Given the description of an element on the screen output the (x, y) to click on. 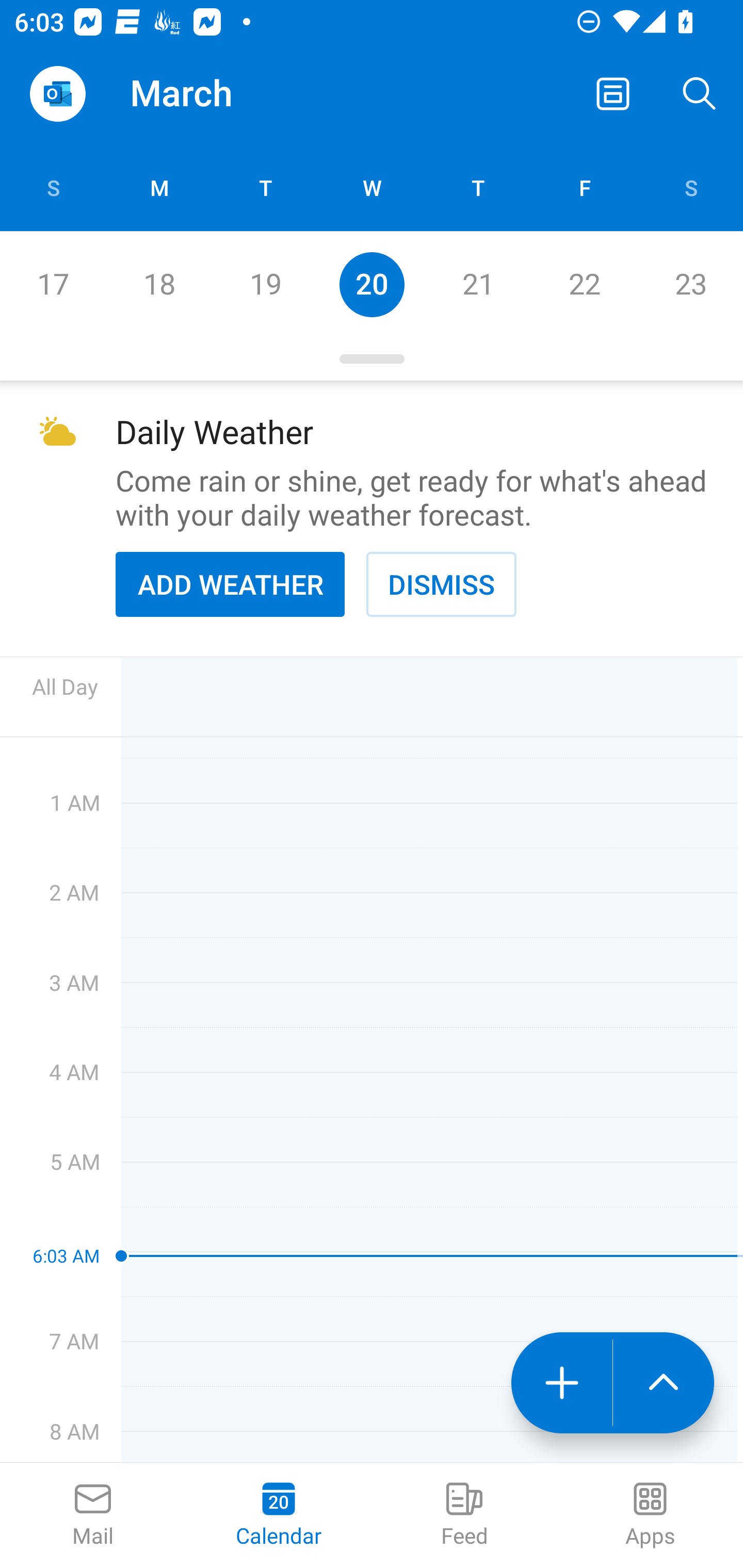
March March 2024, day picker (209, 93)
Switch away from Day view (612, 93)
Search, ,  (699, 93)
Open Navigation Drawer (57, 94)
17 Sunday, March 17 (53, 284)
18 Monday, March 18 (159, 284)
19 Tuesday, March 19 (265, 284)
20 Wednesday, March 20, today, Selected (371, 284)
21 Thursday, March 21 (477, 284)
22 Friday, March 22 (584, 284)
23 Saturday, March 23 (690, 284)
Day picker (371, 359)
ADD WEATHER (230, 583)
DISMISS (440, 583)
New event (561, 1382)
launch the extended action menu (663, 1382)
Mail (92, 1515)
Feed (464, 1515)
Apps (650, 1515)
